Given the description of an element on the screen output the (x, y) to click on. 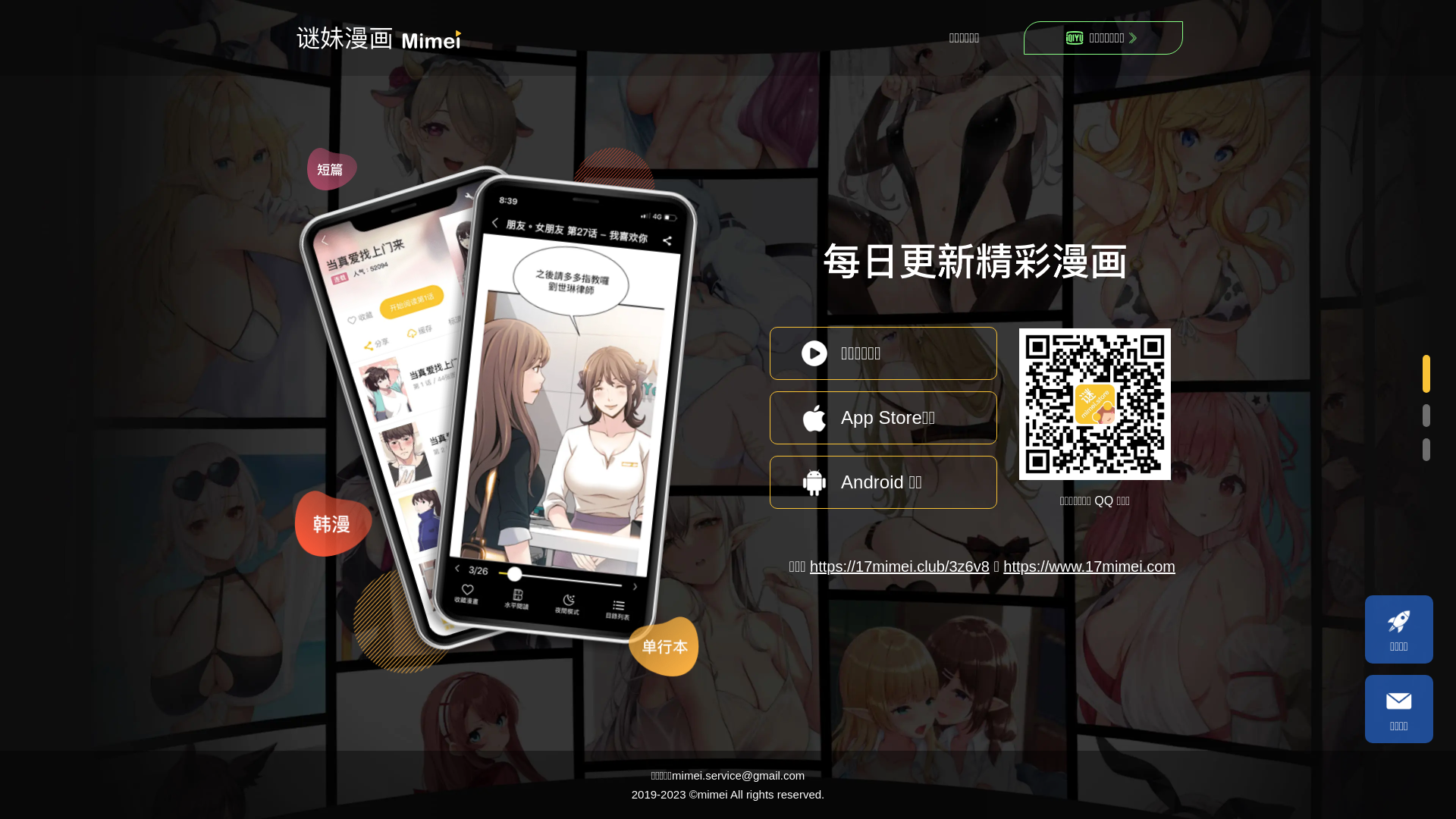
https://www.17mimei.com Element type: text (1089, 566)
Section 2 Element type: text (1423, 416)
https://17mimei.club/3z6v8 Element type: text (899, 566)
mimei.service@gmail.com Element type: text (737, 774)
Section 1 Element type: text (1423, 375)
Section 3 Element type: text (1423, 450)
